Given the description of an element on the screen output the (x, y) to click on. 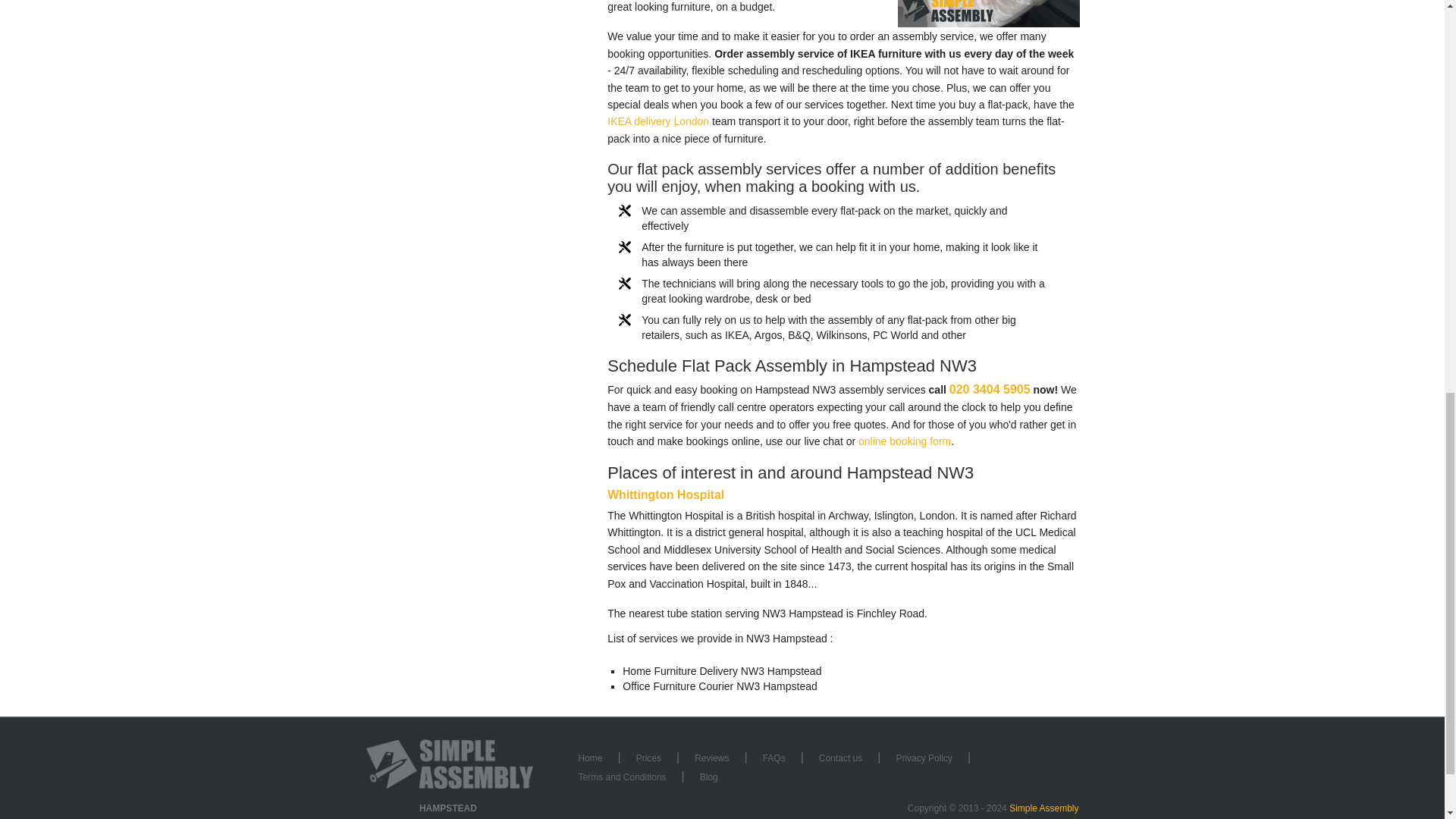
Terms and Conditions (621, 777)
IKEA delivery London (658, 121)
Home (589, 757)
Blog (708, 777)
Contact us (840, 757)
FAQs (774, 757)
Privacy Policy (924, 757)
Prices (649, 757)
online booking form (904, 440)
Reviews (711, 757)
